Given the description of an element on the screen output the (x, y) to click on. 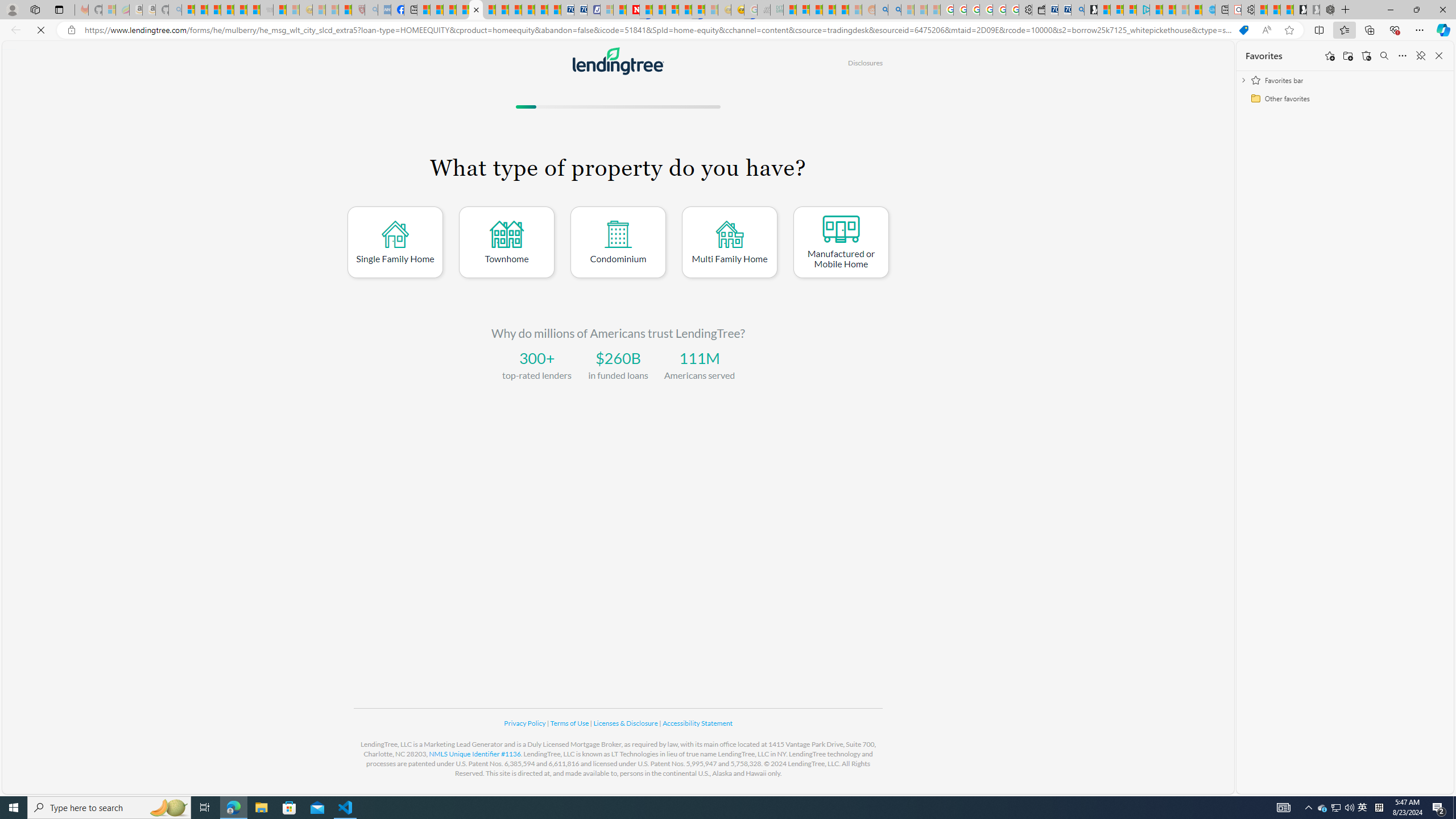
Latest Politics News & Archive | Newsweek.com (633, 9)
Unpin favorites (1420, 55)
Shopping in Microsoft Edge (1243, 29)
Home | Sky Blue Bikes - Sky Blue Bikes (1208, 9)
